Given the description of an element on the screen output the (x, y) to click on. 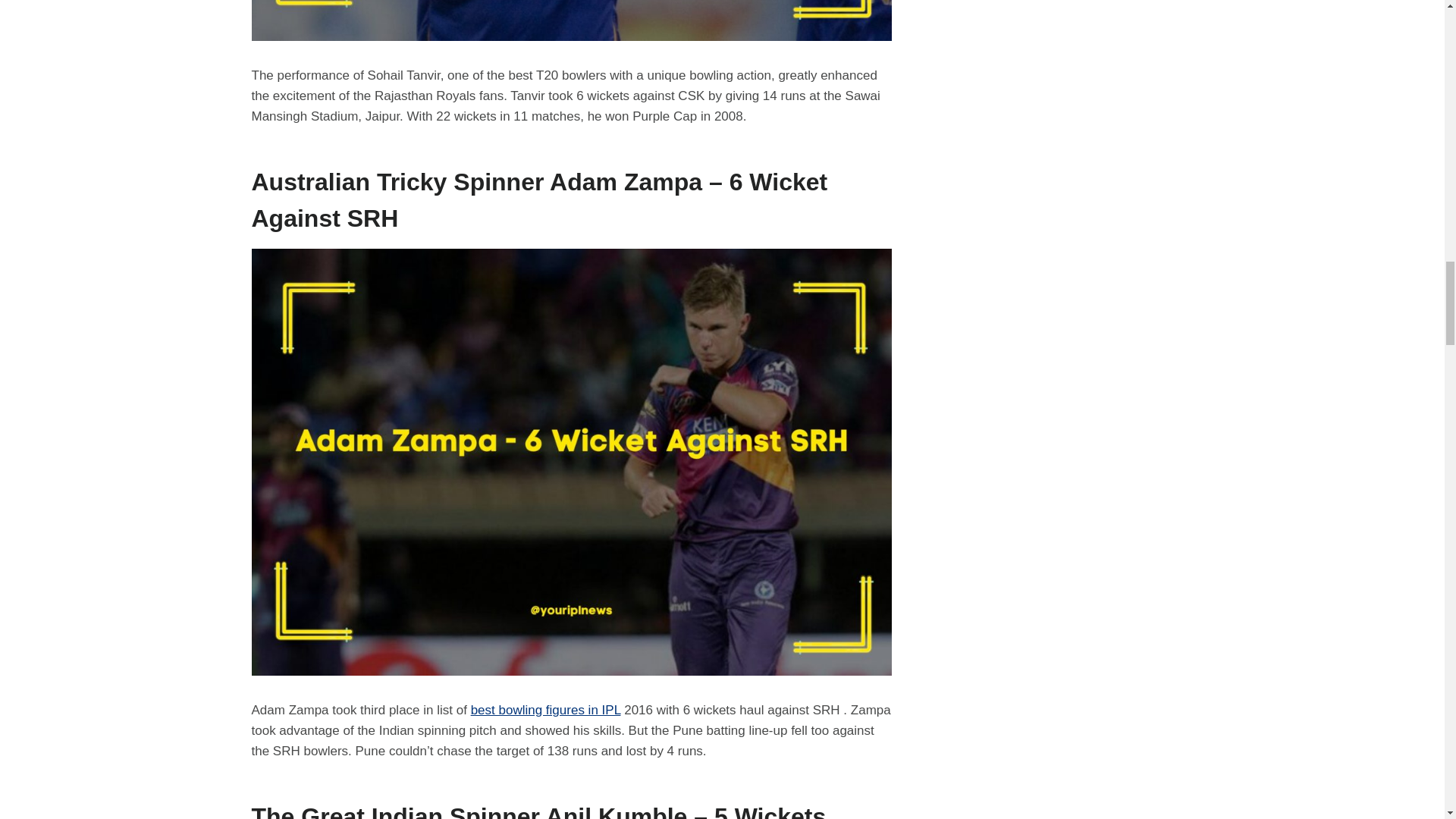
best bowling figures in IPL (545, 709)
